Given the description of an element on the screen output the (x, y) to click on. 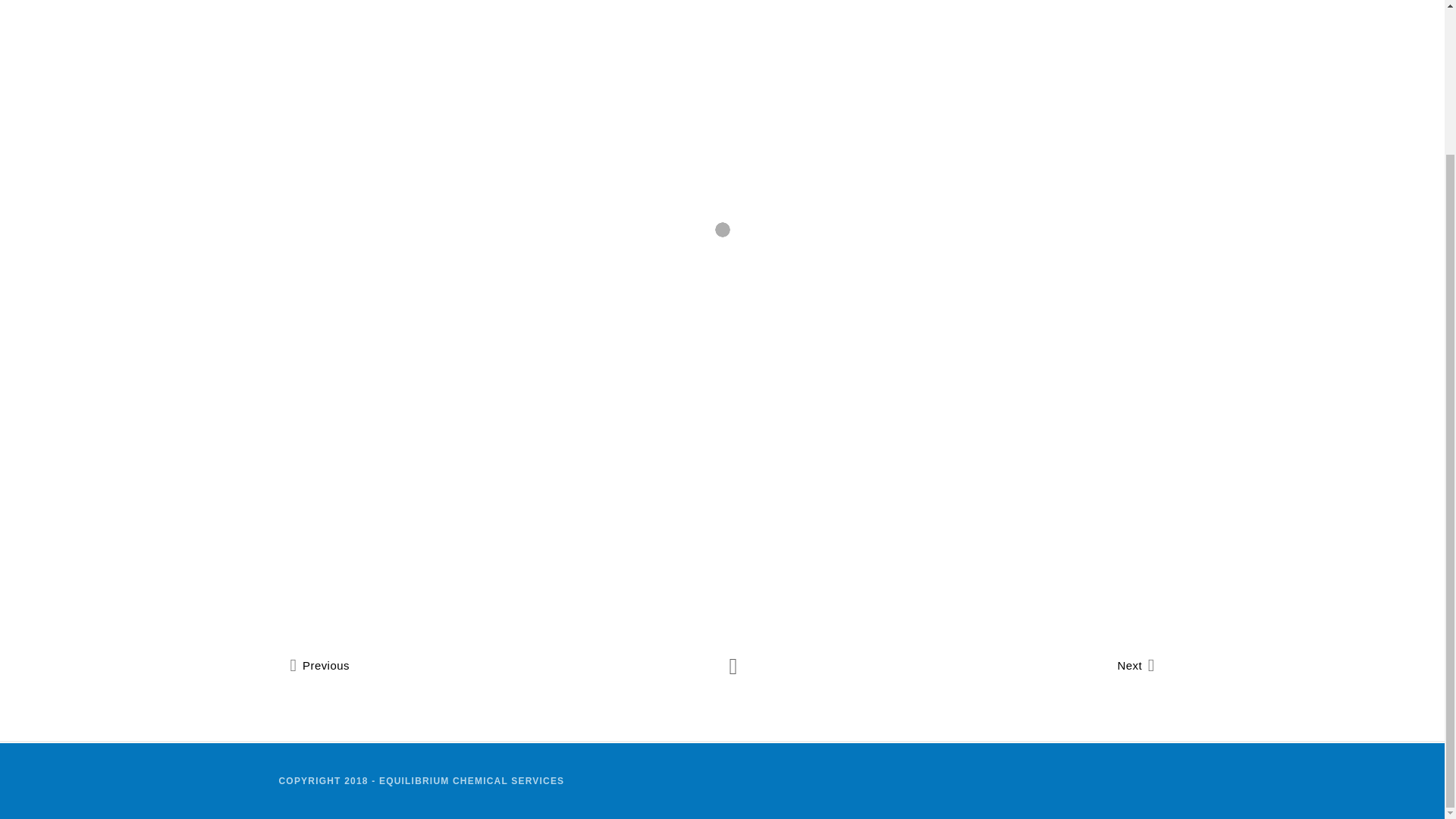
HOME (664, 34)
Next (1135, 665)
Previous (319, 665)
